Given the description of an element on the screen output the (x, y) to click on. 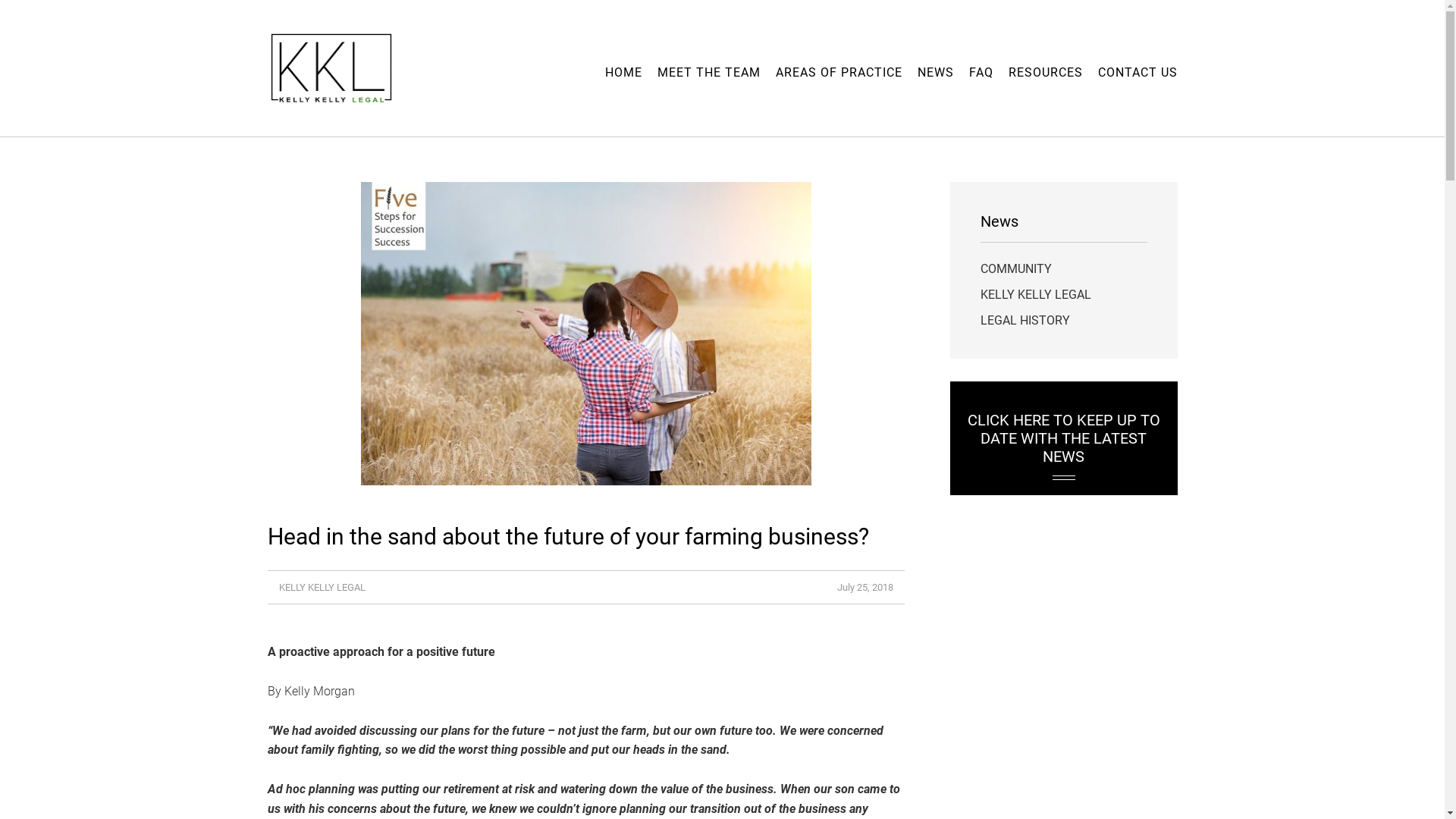
AREAS OF PRACTICE Element type: text (838, 72)
RESOURCES Element type: text (1045, 72)
CLICK HERE TO KEEP UP TO DATE WITH THE LATEST NEWS Element type: text (1062, 438)
CONTACT US Element type: text (1137, 72)
COMMUNITY Element type: text (1015, 268)
KELLY KELLY LEGAL Element type: text (1034, 294)
FAQ Element type: text (981, 72)
KELLY KELLY LEGAL Element type: text (322, 587)
HOME Element type: text (623, 72)
MEET THE TEAM Element type: text (707, 72)
NEWS Element type: text (935, 72)
LEGAL HISTORY Element type: text (1024, 320)
